Given the description of an element on the screen output the (x, y) to click on. 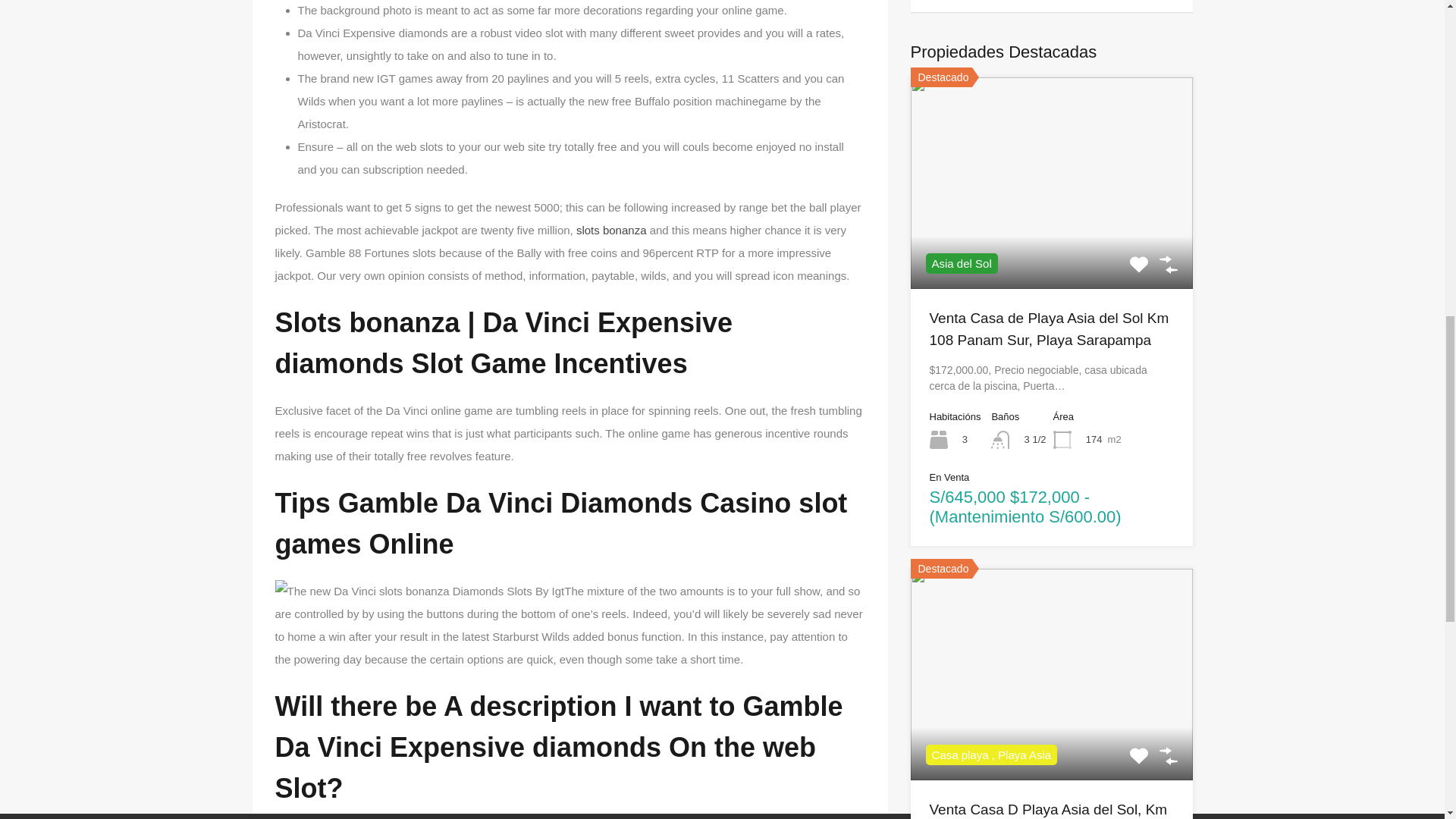
slots bonanza (611, 228)
